Given the description of an element on the screen output the (x, y) to click on. 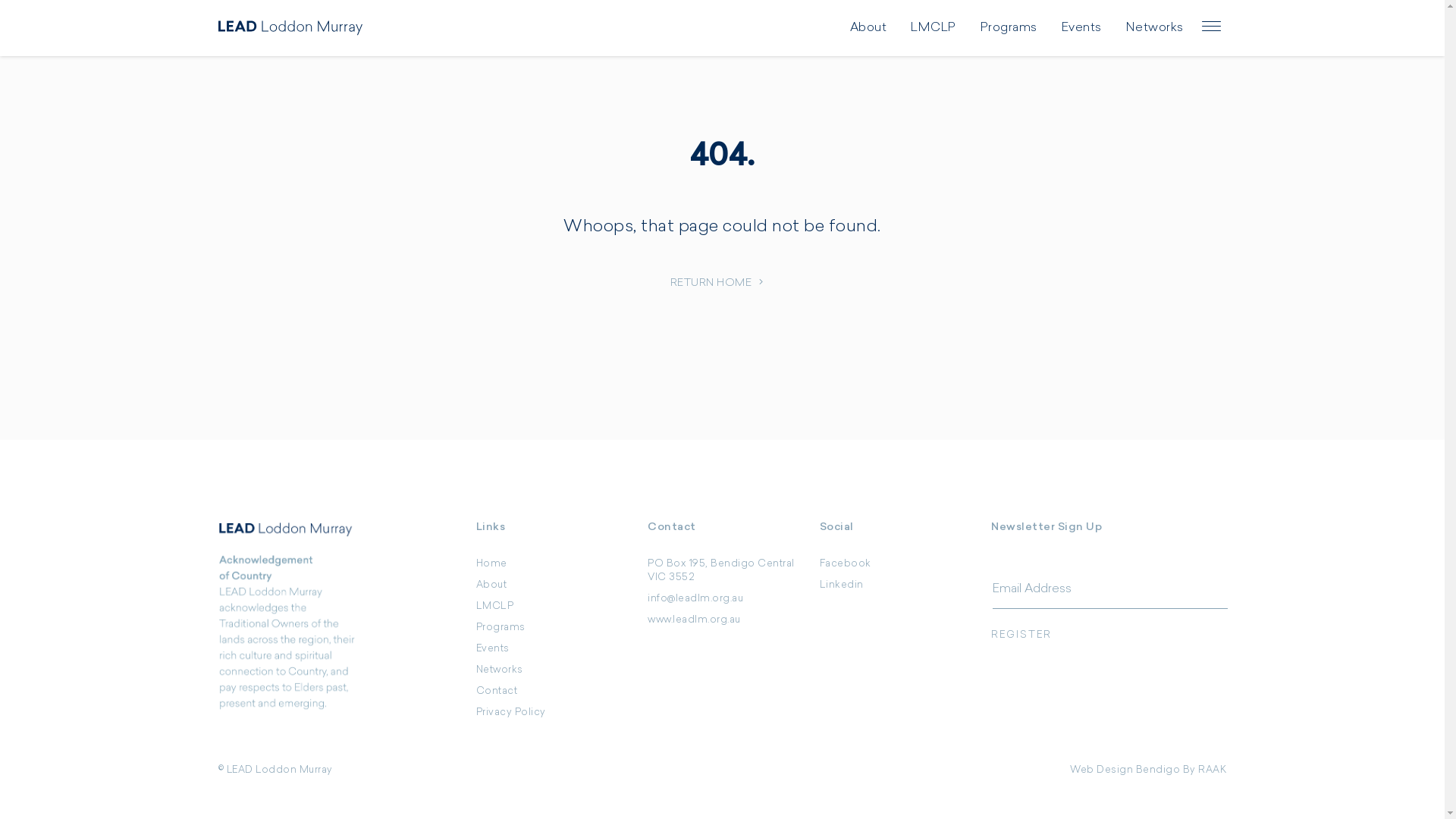
Networks Element type: text (499, 669)
RETURN HOME Element type: text (722, 283)
About Element type: text (491, 584)
Networks Element type: text (1154, 28)
LMCLP Element type: text (495, 606)
Contact Element type: text (496, 691)
www.leadlm.org.au Element type: text (693, 619)
Privacy Policy Element type: text (511, 712)
Programs Element type: text (1007, 28)
Home Element type: text (491, 563)
PO Box 195, Bendigo Central VIC 3552 Element type: text (720, 570)
Facebook Element type: text (845, 563)
LMCLP Element type: text (933, 28)
Linkedin Element type: text (841, 584)
Events Element type: text (492, 648)
info@leadlm.org.au Element type: text (695, 598)
Web Design Bendigo Element type: text (1124, 770)
Programs Element type: text (500, 627)
Events Element type: text (1081, 28)
About Element type: text (867, 28)
RAAK Element type: text (1212, 770)
Register Element type: text (1108, 634)
